Given the description of an element on the screen output the (x, y) to click on. 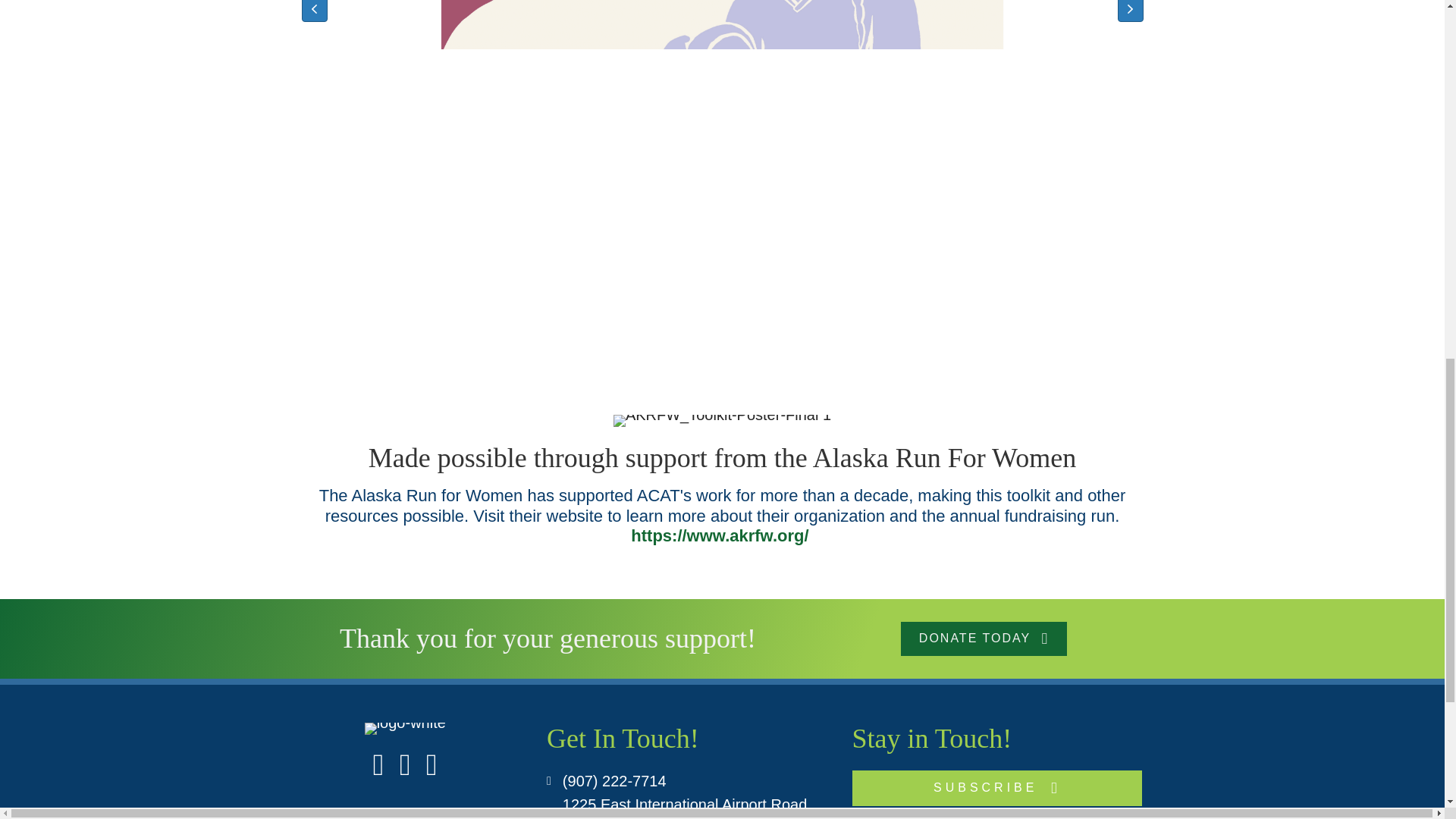
logo-white (405, 728)
